Given the description of an element on the screen output the (x, y) to click on. 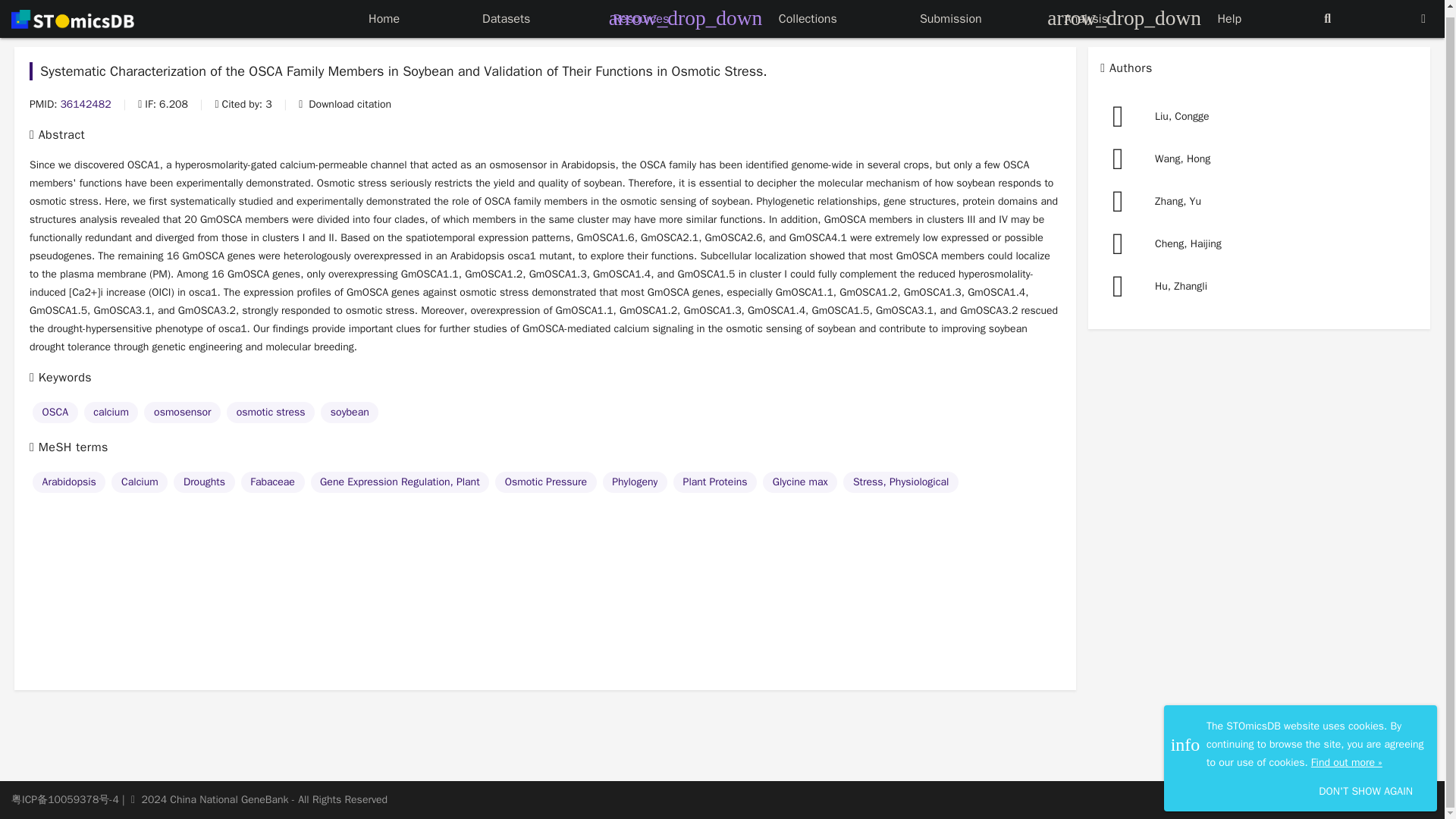
Submission (950, 12)
Datasets (505, 12)
Download citation (344, 104)
Help (1229, 12)
Home (383, 12)
Collections (807, 12)
36142482 (84, 104)
